Given the description of an element on the screen output the (x, y) to click on. 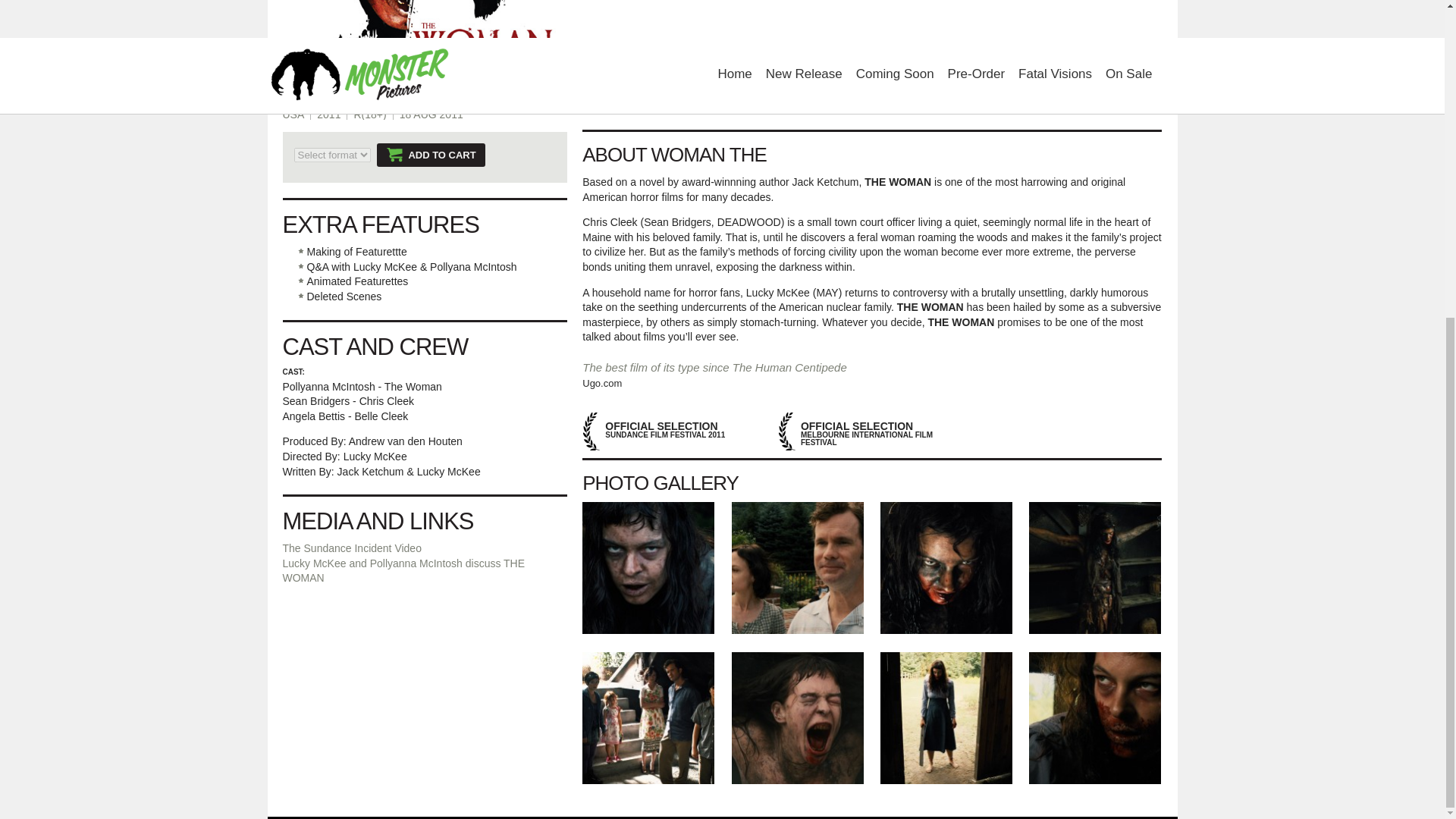
The Sundance Incident Video (351, 548)
Add to Cart (430, 155)
Lucky McKee and Pollyanna McIntosh discuss THE WOMAN (403, 570)
Add to Cart (430, 155)
